Given the description of an element on the screen output the (x, y) to click on. 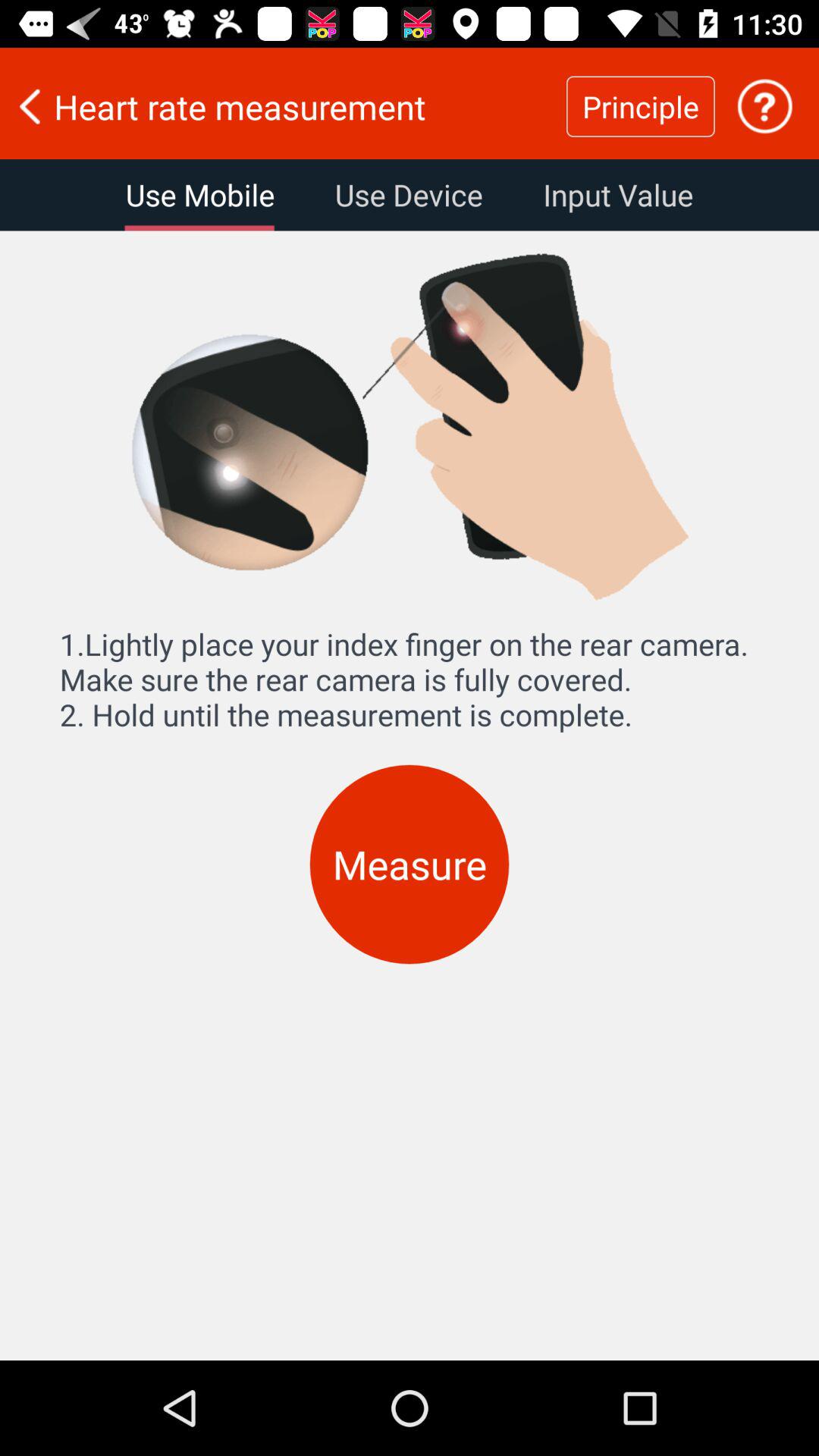
turn off the item to the left of the input value item (408, 194)
